Given the description of an element on the screen output the (x, y) to click on. 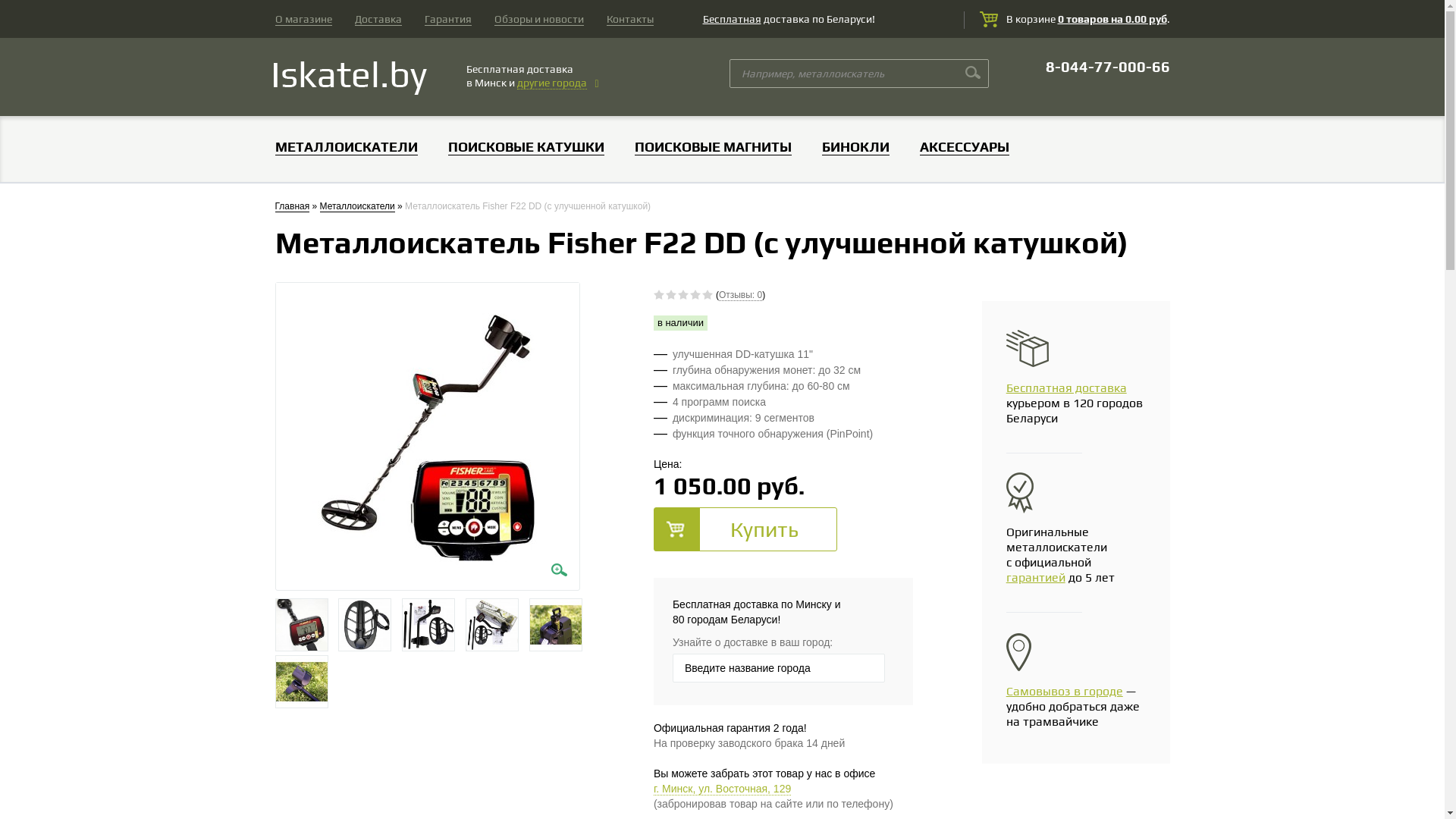
find Element type: text (971, 71)
8-044-77-000-66 Element type: text (1106, 66)
cart Element type: text (988, 19)
